Given the description of an element on the screen output the (x, y) to click on. 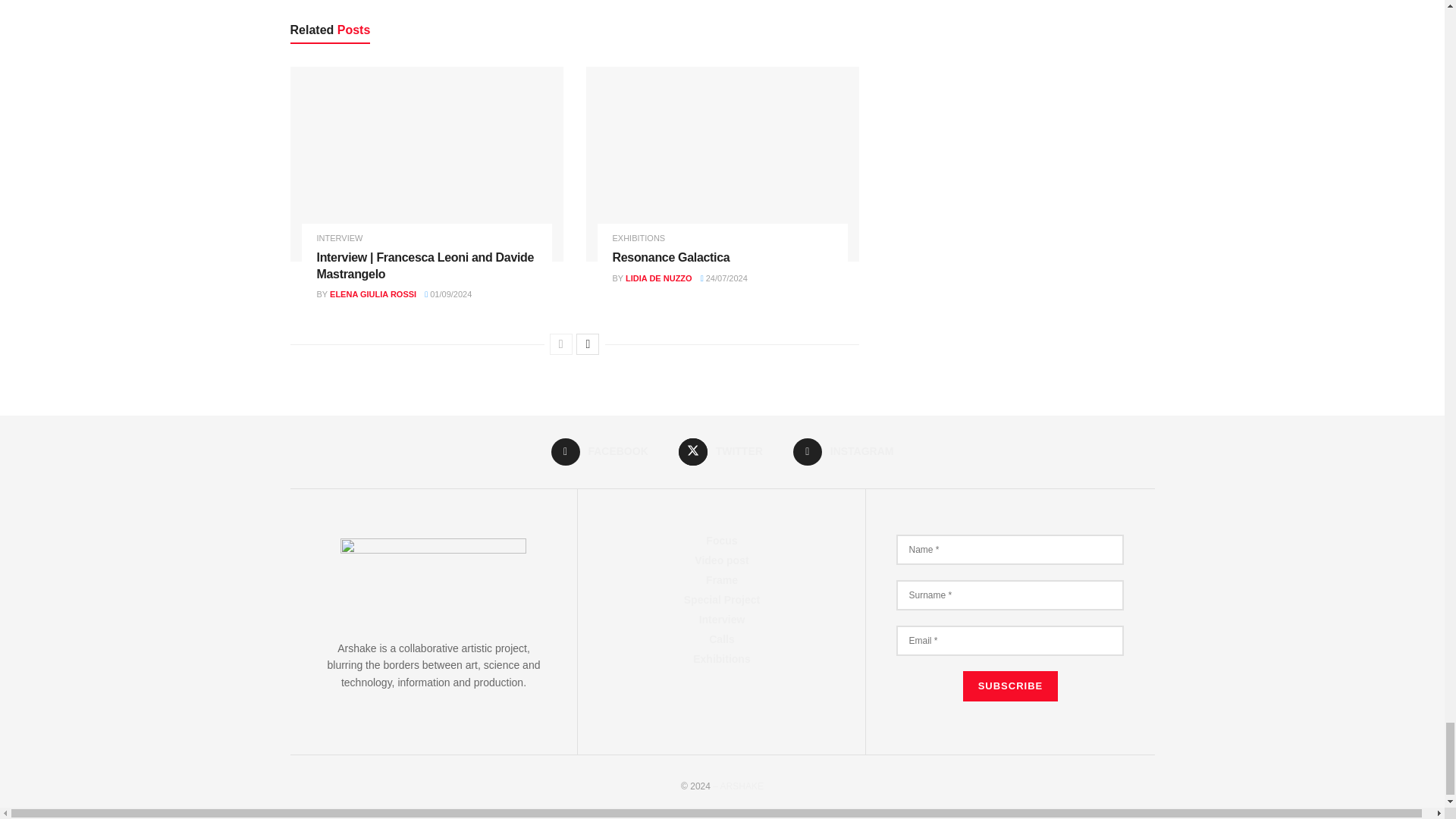
Next (587, 343)
Surname (1010, 594)
Previous (561, 343)
Email (1010, 640)
Name (1010, 549)
ARSHAKE (737, 786)
Subscribe (1010, 685)
